Given the description of an element on the screen output the (x, y) to click on. 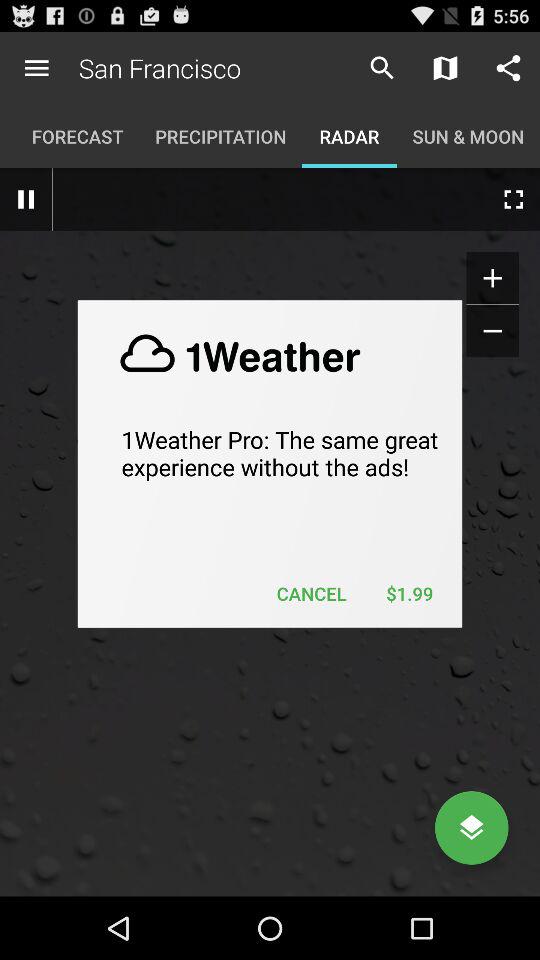
jump to the $1.99 icon (409, 593)
